Given the description of an element on the screen output the (x, y) to click on. 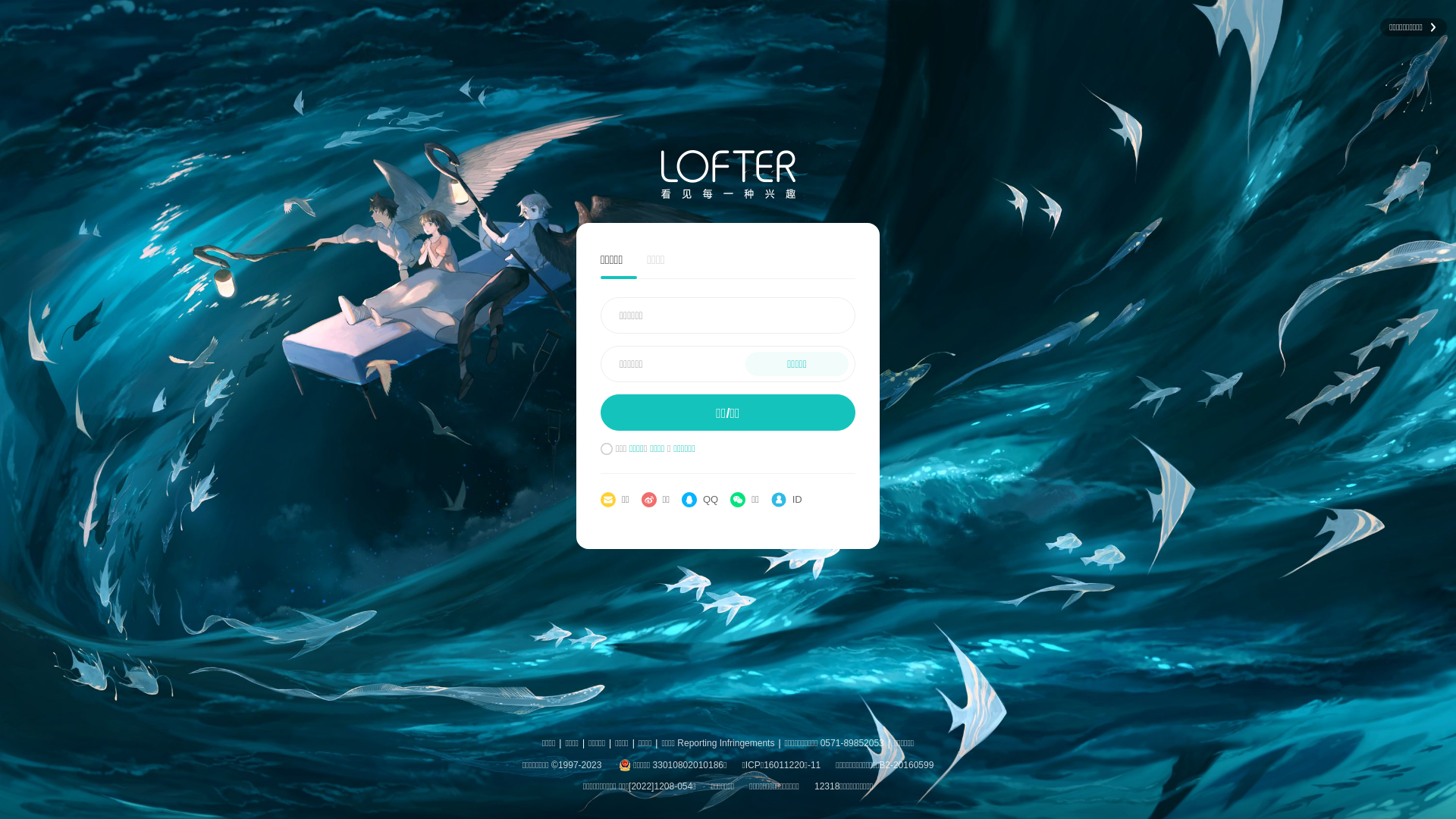
QQ Element type: text (699, 499)
ID Element type: text (786, 499)
